Given the description of an element on the screen output the (x, y) to click on. 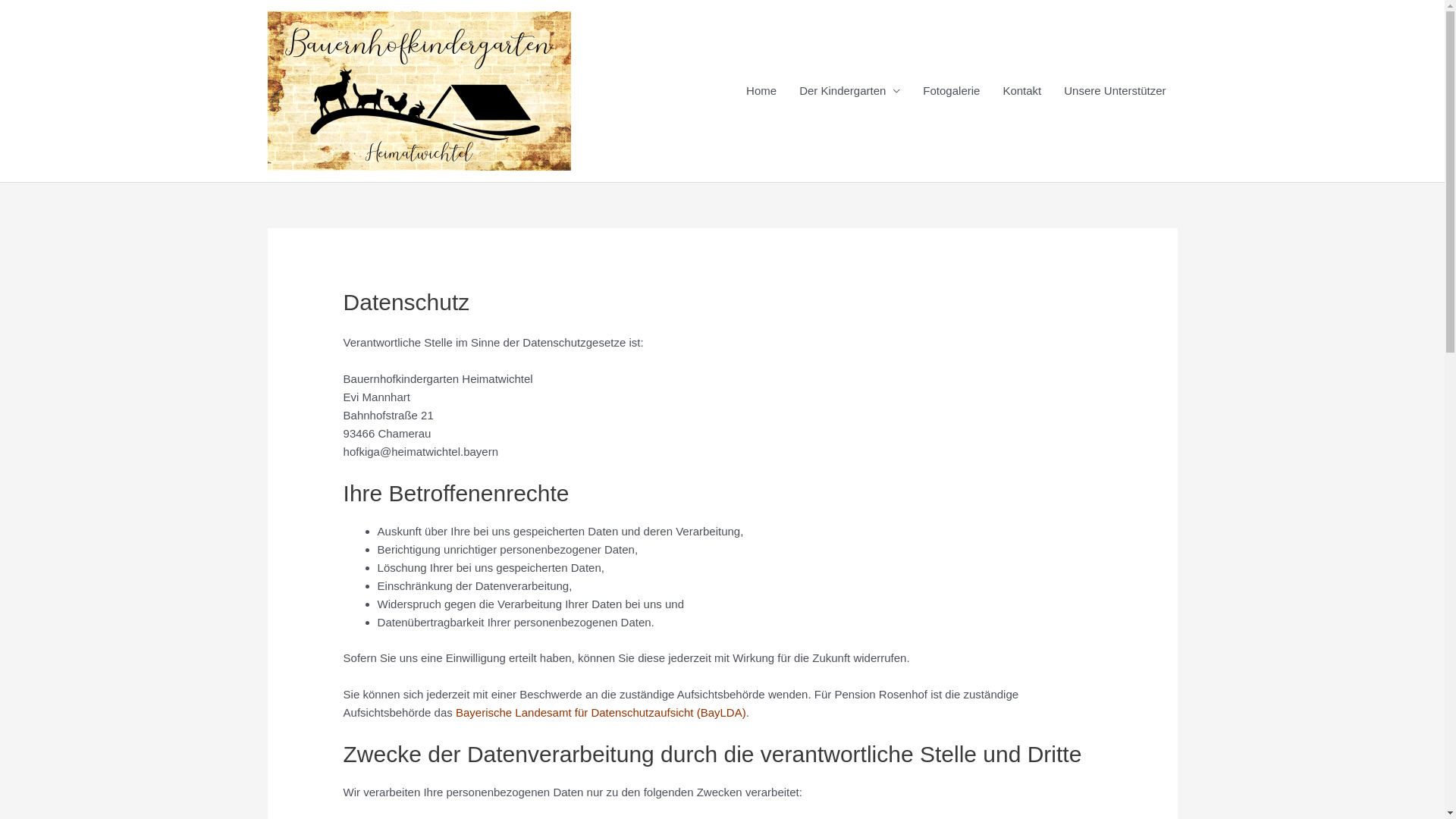
Kontakt Element type: text (1021, 90)
Fotogalerie Element type: text (951, 90)
Home Element type: text (760, 90)
Der Kindergarten Element type: text (849, 90)
